Given the description of an element on the screen output the (x, y) to click on. 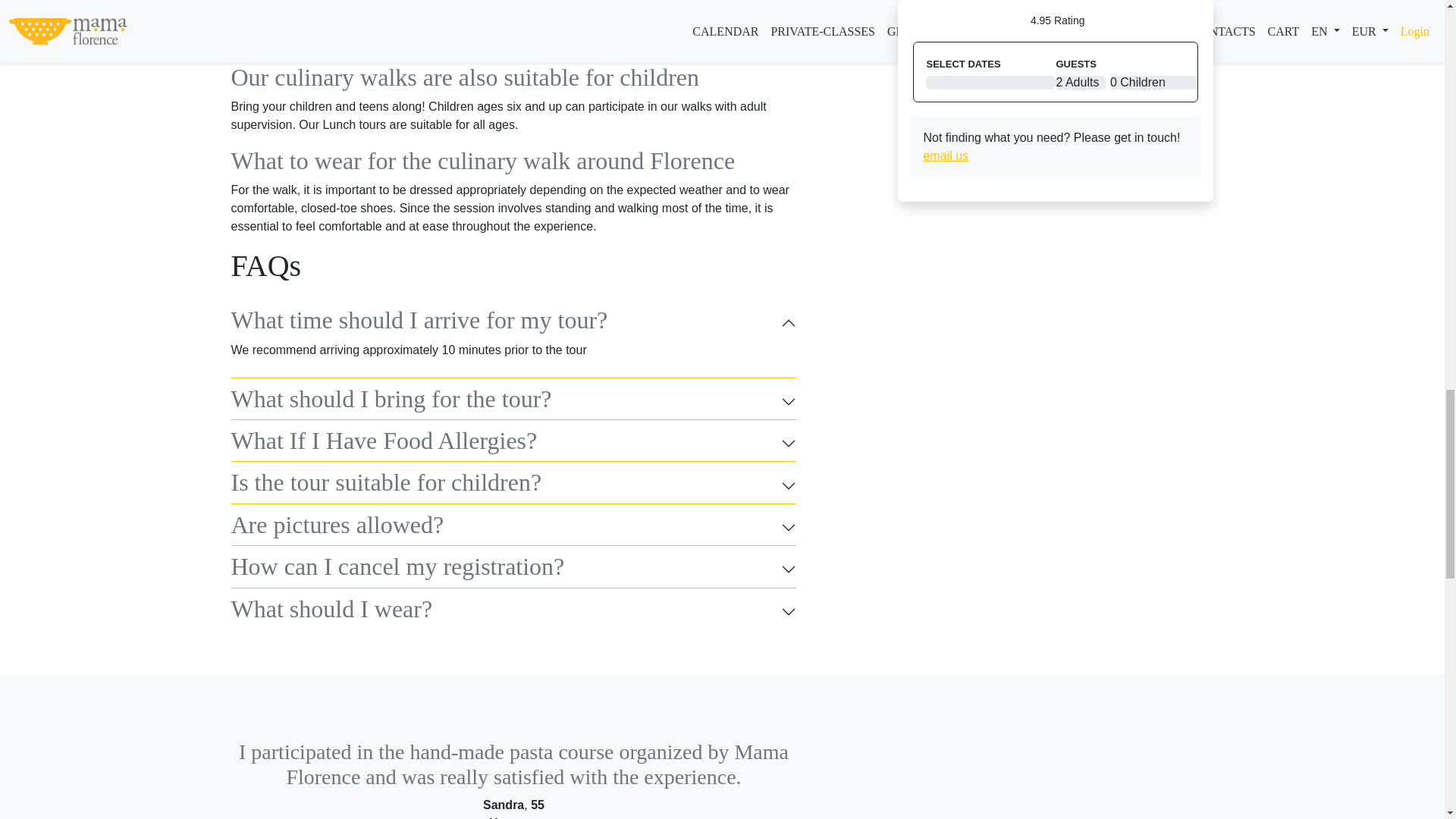
What should I bring for the tour? (513, 401)
Are pictures allowed? (513, 527)
What If I Have Food Allergies? (513, 443)
Is the tour suitable for children? (513, 484)
What should I wear? (513, 611)
What time should I arrive for my tour? (513, 322)
How can I cancel my registration? (513, 569)
